Given the description of an element on the screen output the (x, y) to click on. 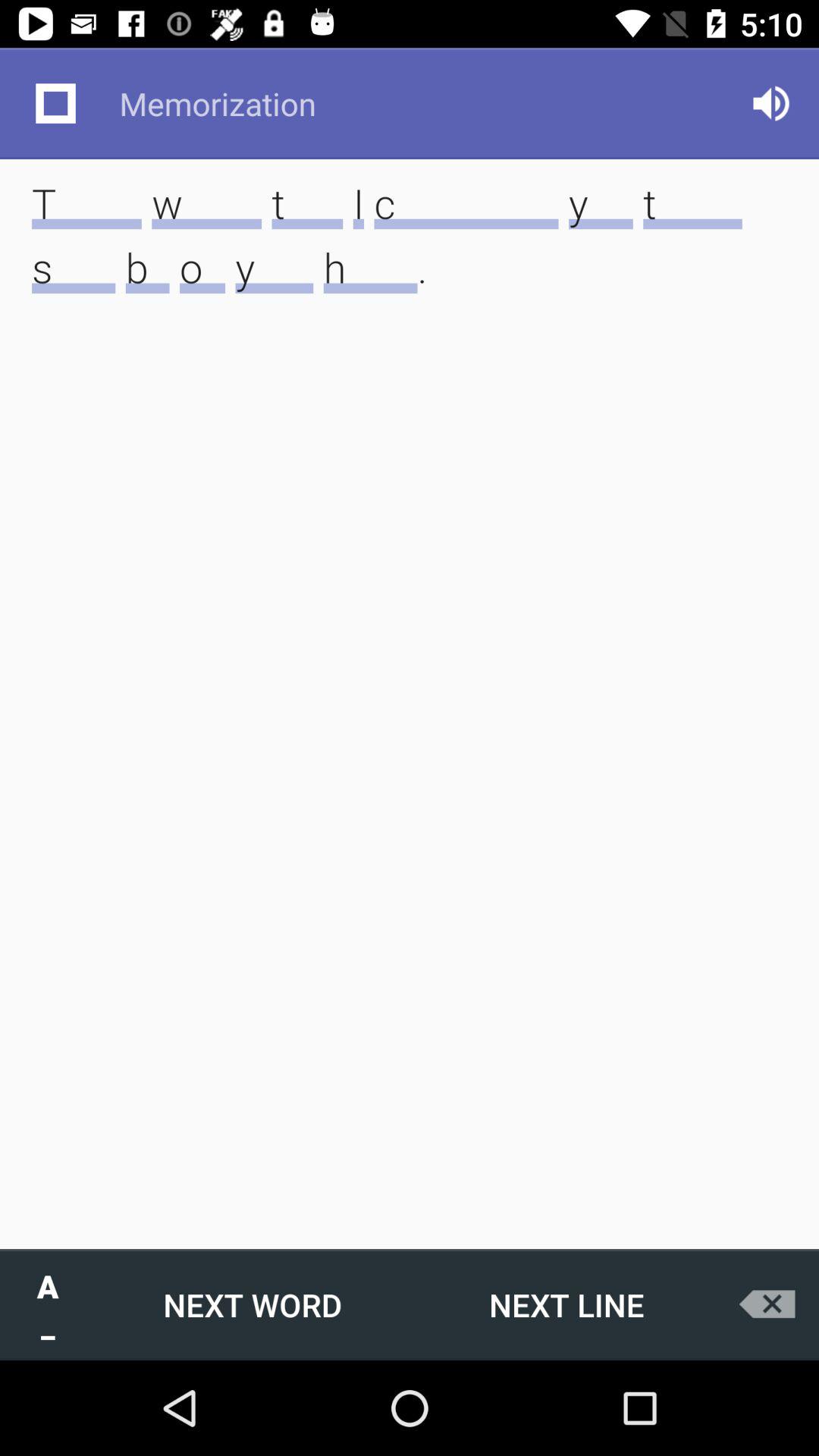
swipe until the next word icon (252, 1304)
